Given the description of an element on the screen output the (x, y) to click on. 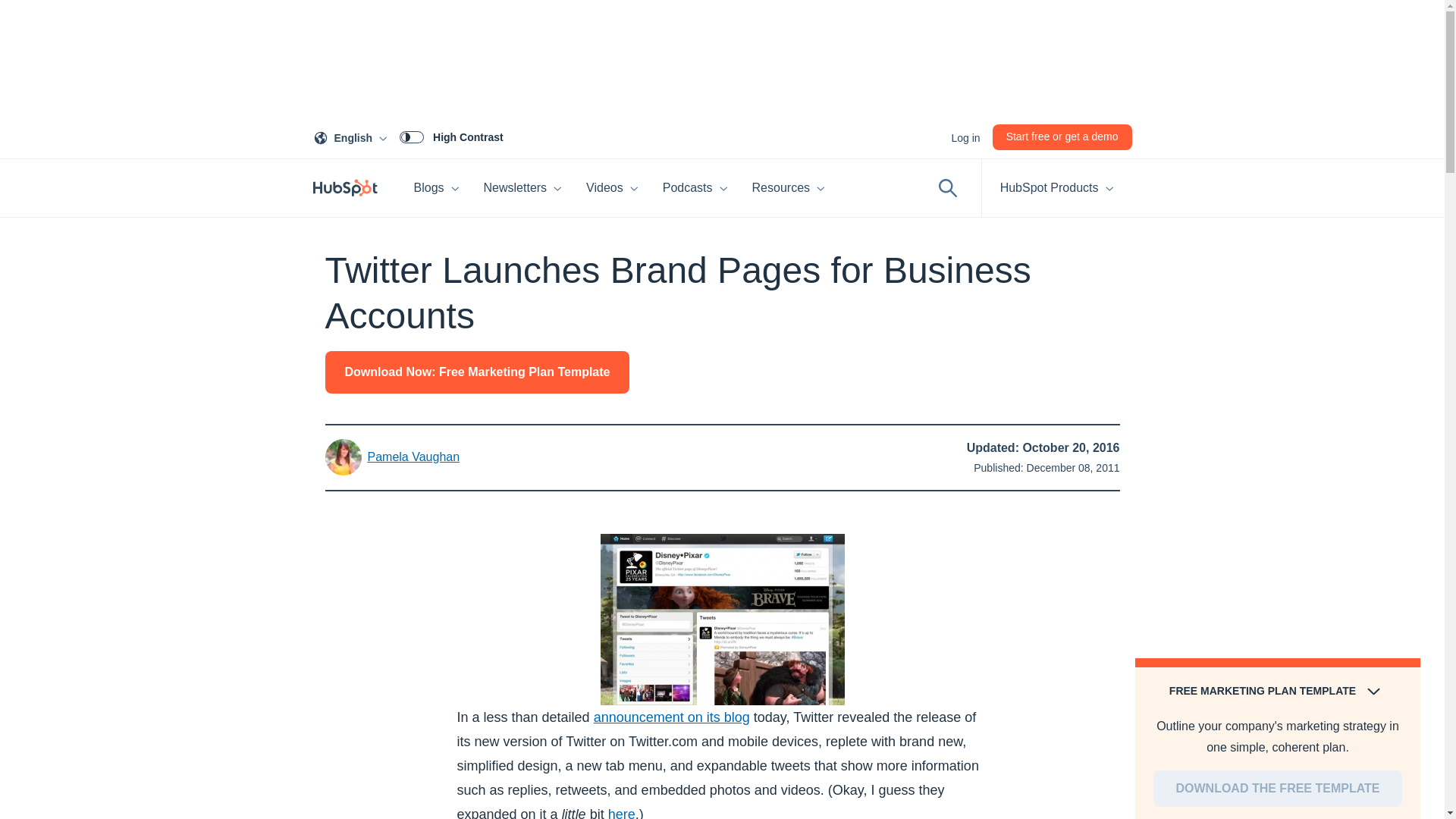
Videos (611, 187)
Blogs (353, 136)
here (436, 187)
High Contrast (621, 812)
announcement on its blog (450, 137)
Newsletters (671, 717)
Start free or get a demo (523, 187)
Log in (1062, 136)
